Given the description of an element on the screen output the (x, y) to click on. 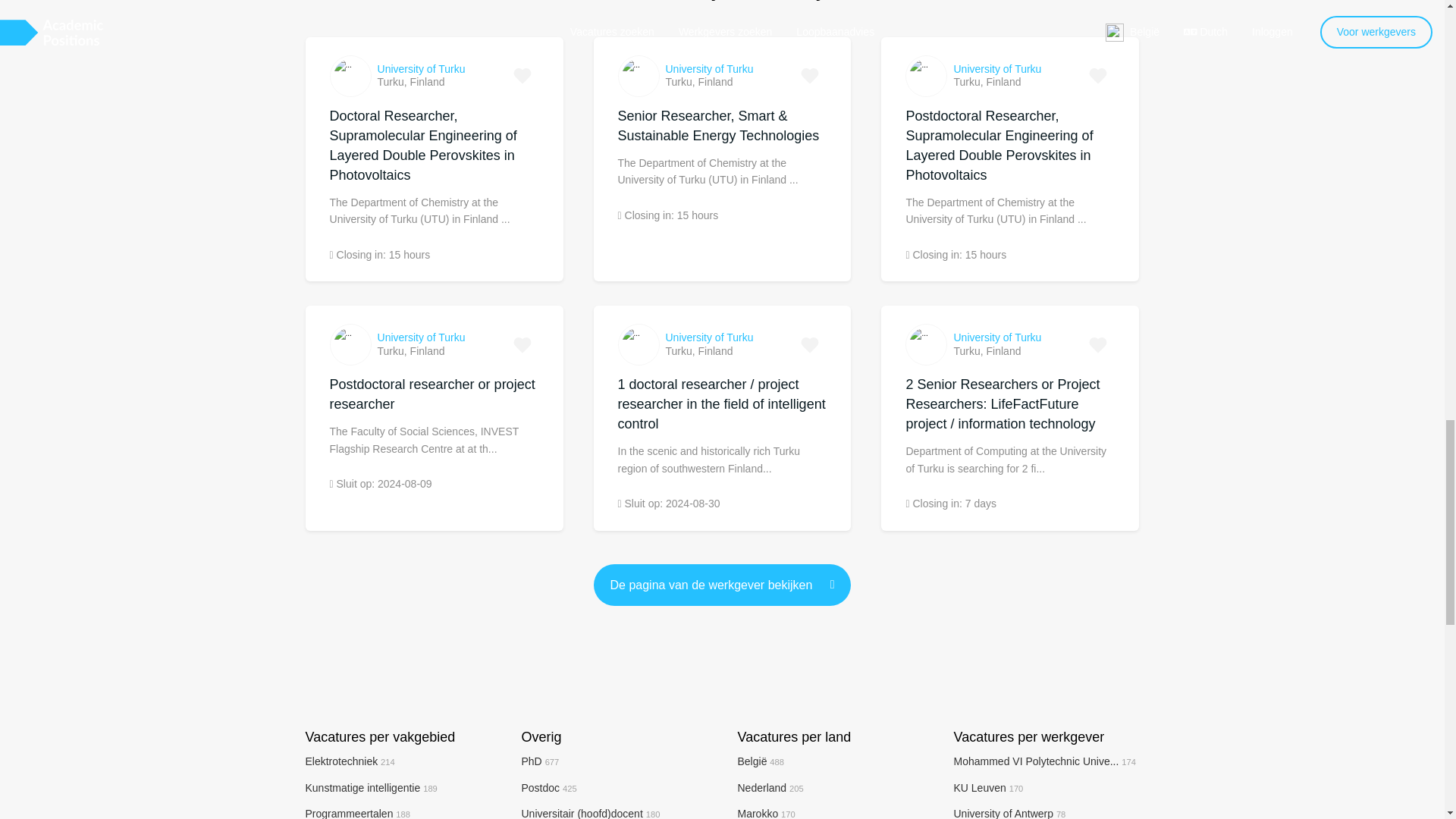
Log in om de vacature aan je favorieten toe te voegen. (810, 344)
Log in om de vacature aan je favorieten toe te voegen. (810, 75)
Log in om de vacature aan je favorieten toe te voegen. (1098, 344)
Log in om de vacature aan je favorieten toe te voegen. (521, 75)
Programmeertalen (357, 813)
Elektrotechniek (349, 761)
Log in om de vacature aan je favorieten toe te voegen. (521, 344)
PhD (540, 761)
Postdoc (548, 787)
Kunstmatige intelligentie (370, 787)
Log in om de vacature aan je favorieten toe te voegen. (1098, 75)
